Given the description of an element on the screen output the (x, y) to click on. 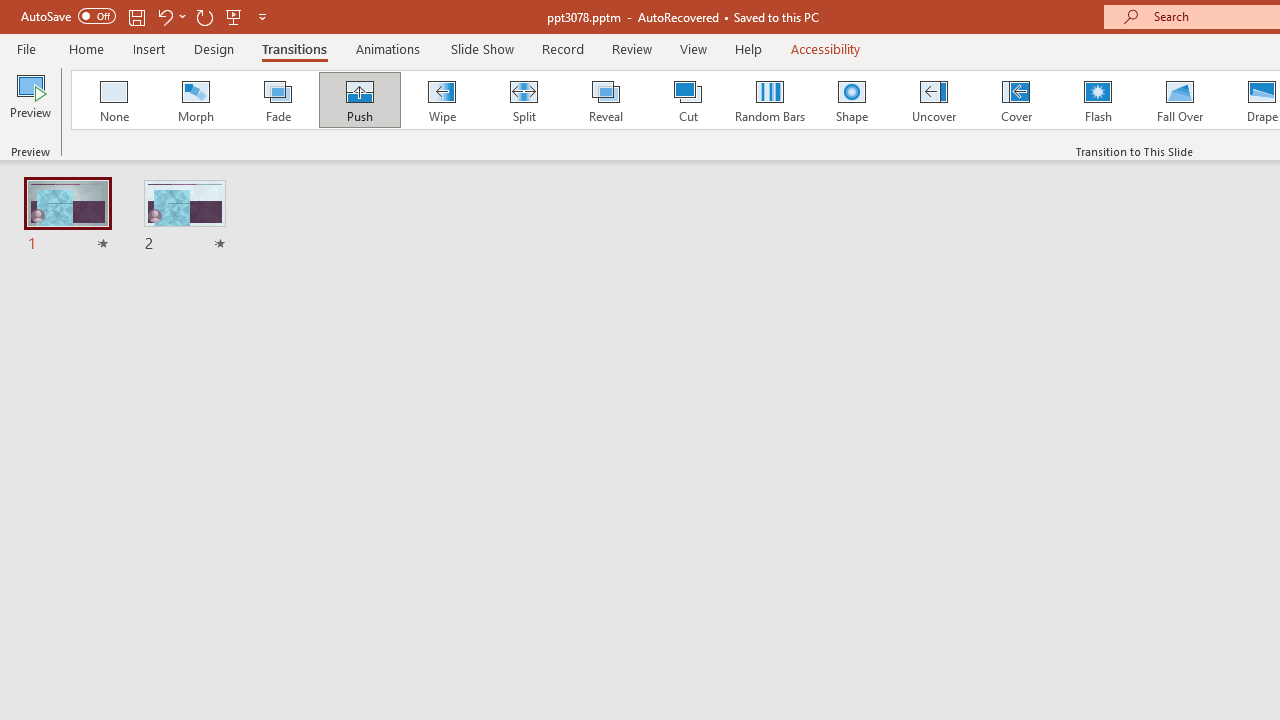
Shape (852, 100)
Uncover (934, 100)
Fall Over (1180, 100)
Random Bars (770, 100)
Preview (30, 102)
Split (523, 100)
